Given the description of an element on the screen output the (x, y) to click on. 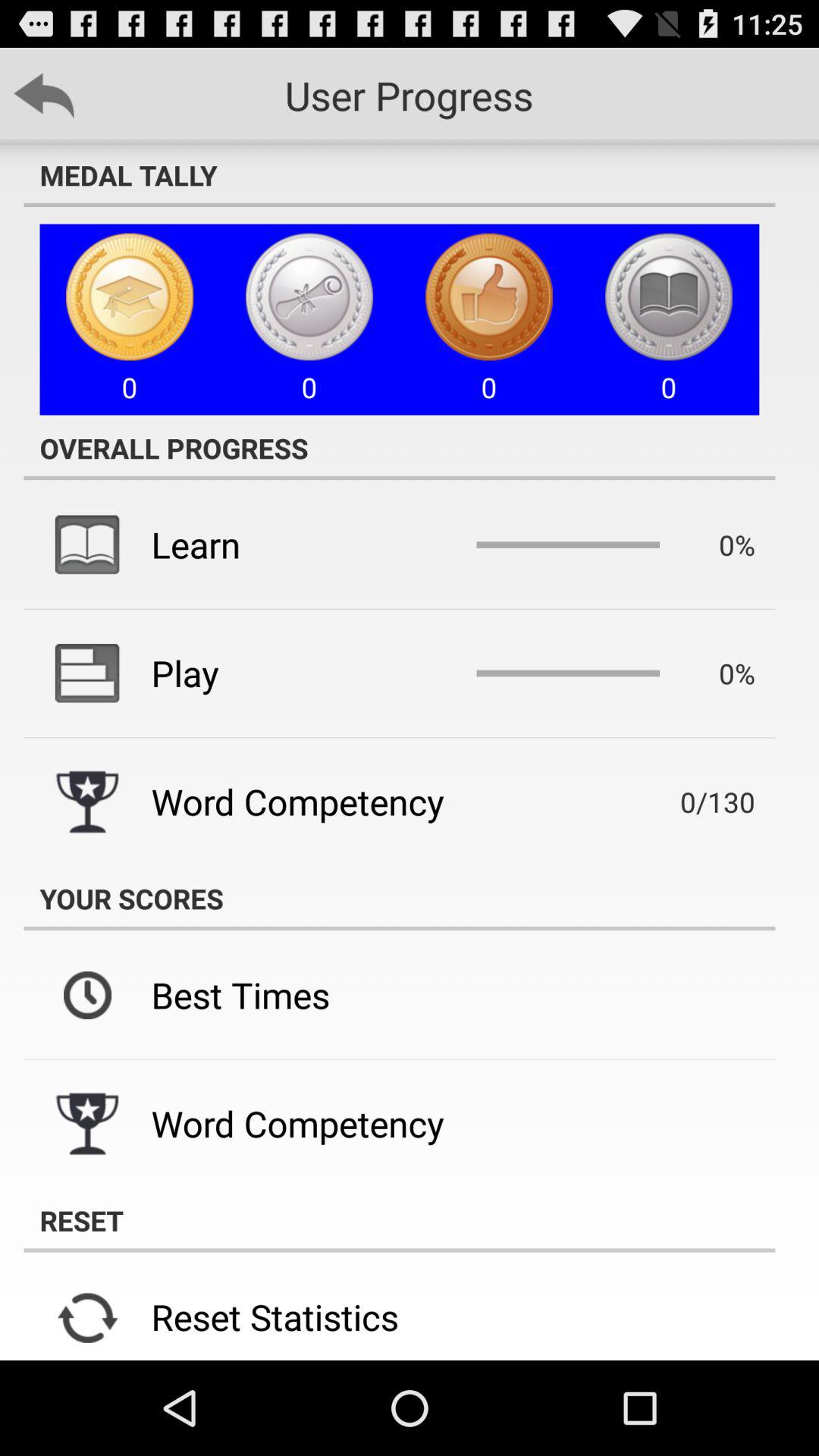
open the icon below 0 icon (399, 448)
